Given the description of an element on the screen output the (x, y) to click on. 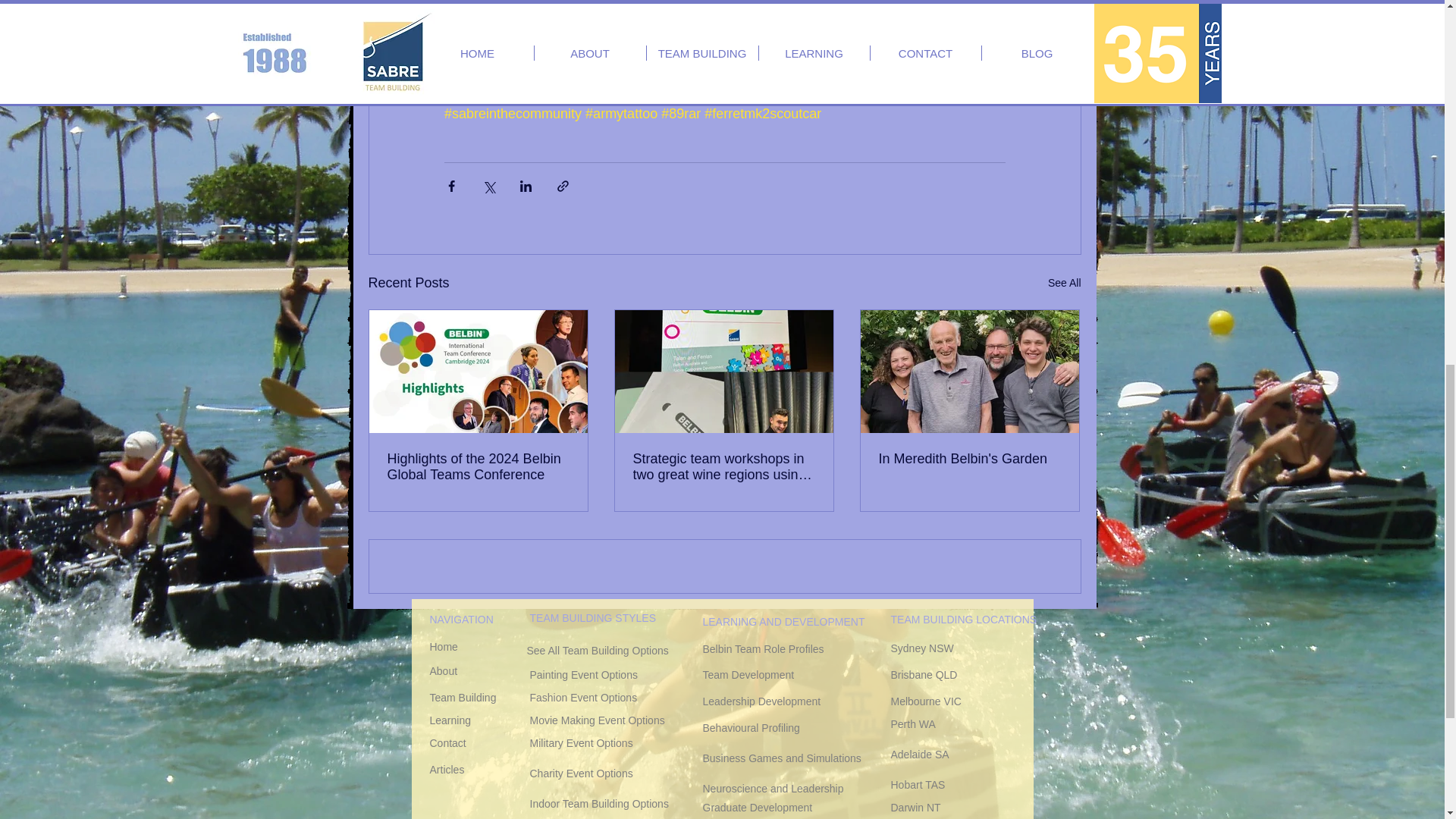
See All (1064, 282)
